Given the description of an element on the screen output the (x, y) to click on. 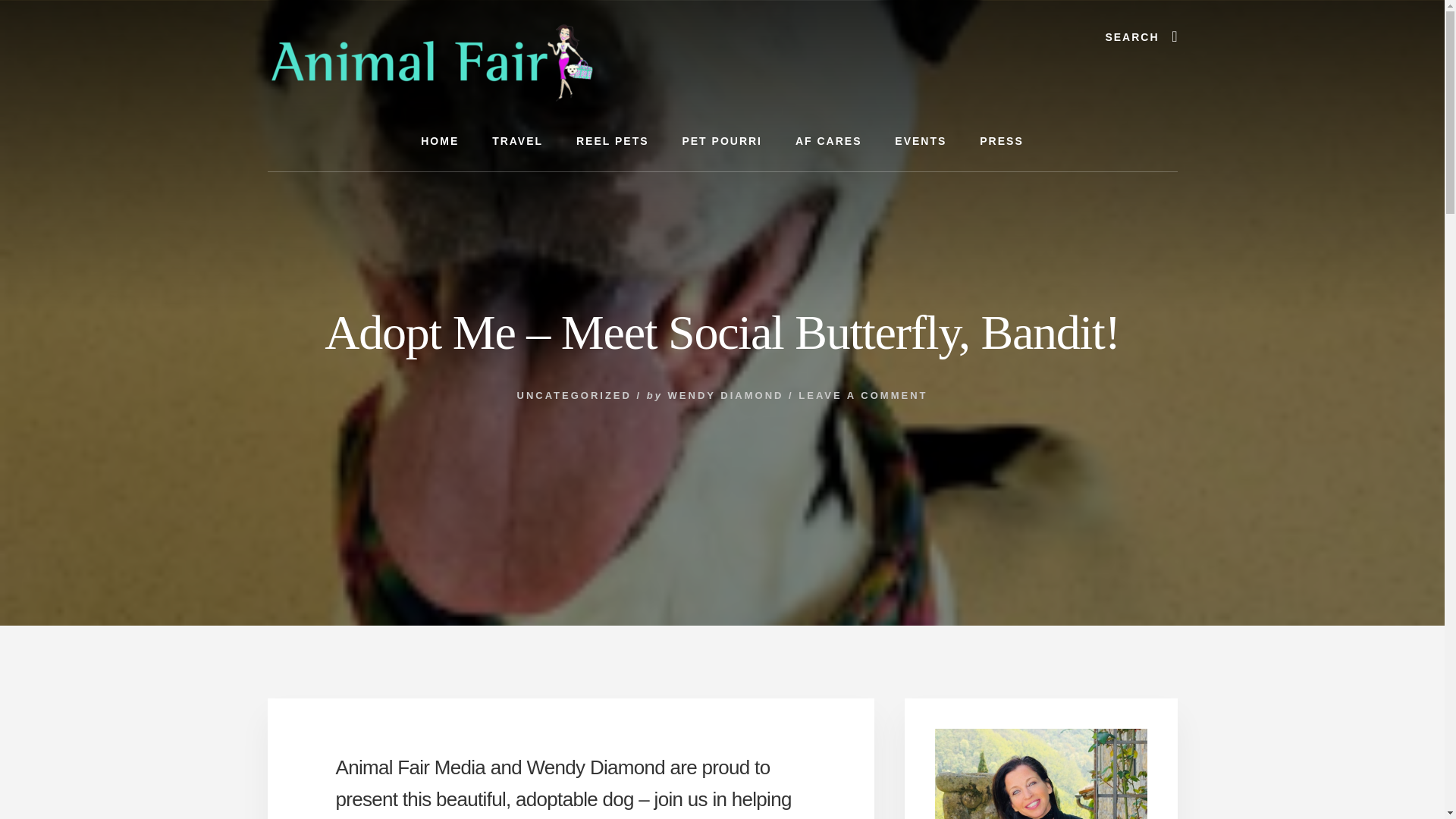
PET POURRI (721, 141)
TRAVEL (517, 141)
REEL PETS (611, 141)
HOME (440, 141)
